Given the description of an element on the screen output the (x, y) to click on. 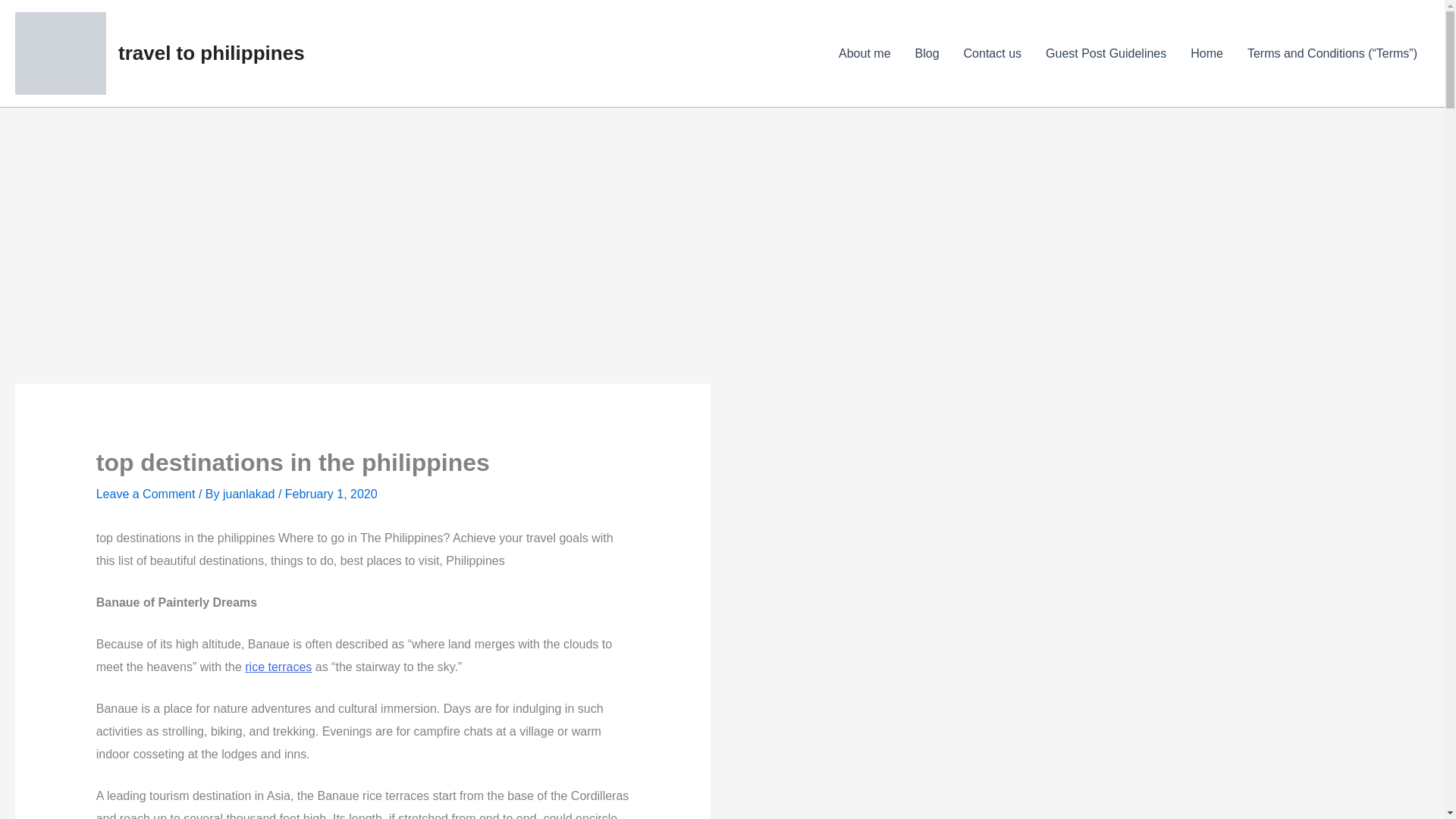
juanlakad (250, 493)
Home (1205, 52)
Guest Post Guidelines (1105, 52)
Leave a Comment (145, 493)
rice terraces (277, 666)
View all posts by juanlakad (250, 493)
travel to philippines (210, 52)
Contact us (992, 52)
About me (864, 52)
